Given the description of an element on the screen output the (x, y) to click on. 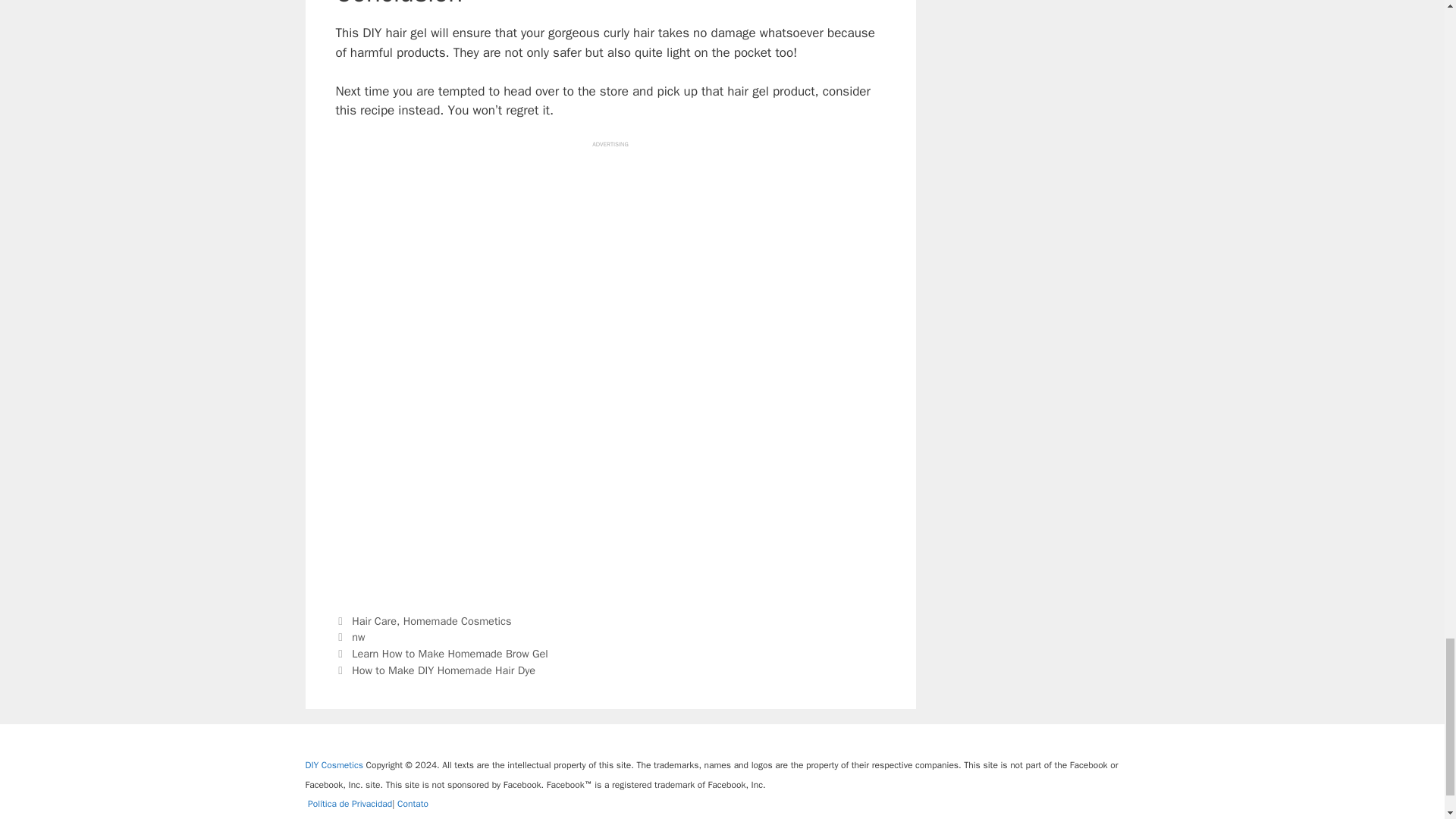
Learn How to Make Homemade Brow Gel (450, 653)
Hair Care (374, 621)
nw (358, 636)
DIY Cosmetics (333, 765)
Homemade Cosmetics (457, 621)
How to Make DIY Homemade Hair Dye (443, 670)
Contato (412, 803)
